Given the description of an element on the screen output the (x, y) to click on. 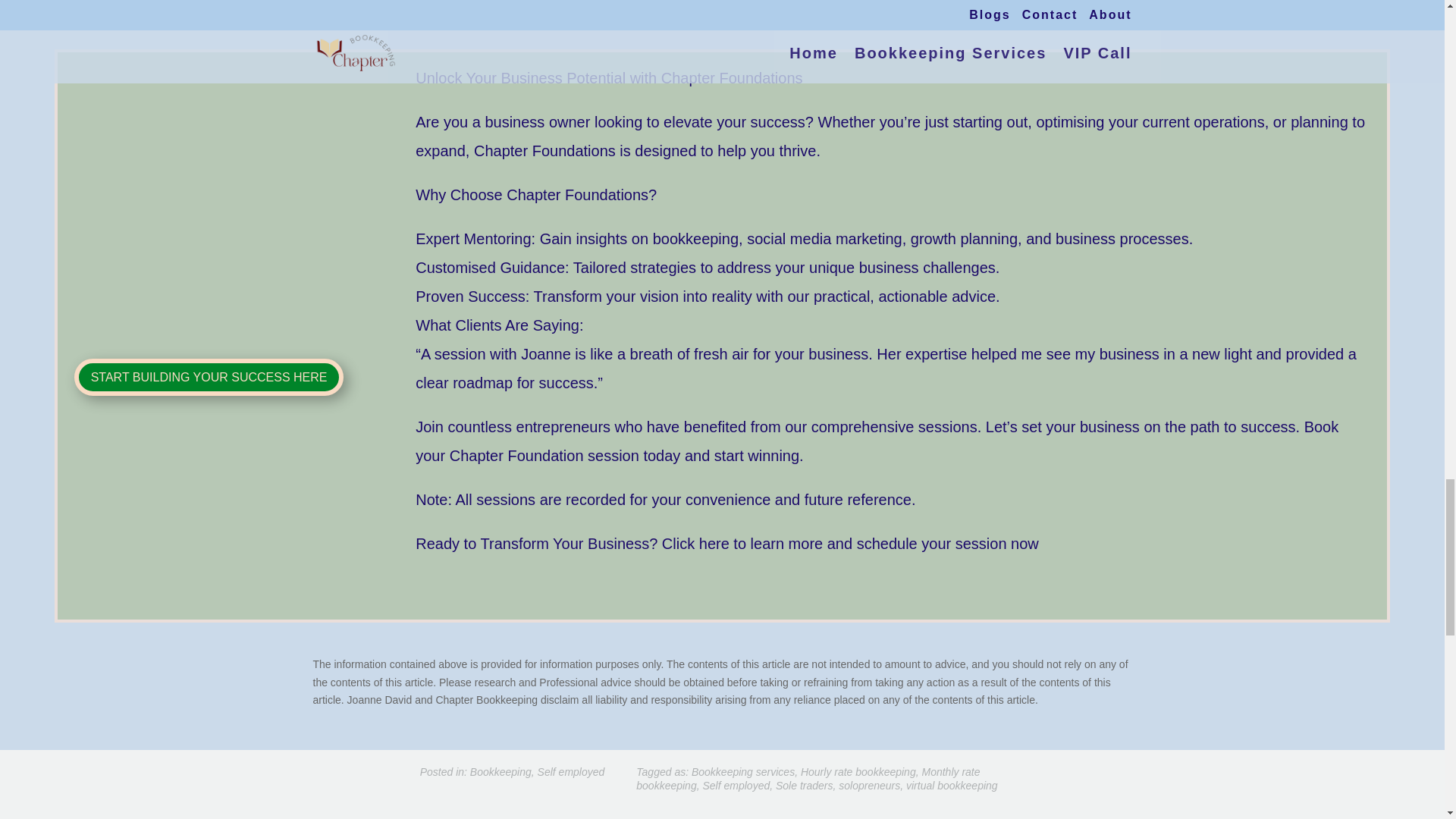
Self employed (571, 771)
Hourly rate bookkeeping (857, 771)
START BUILDING YOUR SUCCESS HERE (208, 376)
Self employed (735, 785)
Lets connect (696, 6)
Monthly rate bookkeeping (807, 778)
Bookkeeping services (742, 771)
Bookkeeping (500, 771)
